Given the description of an element on the screen output the (x, y) to click on. 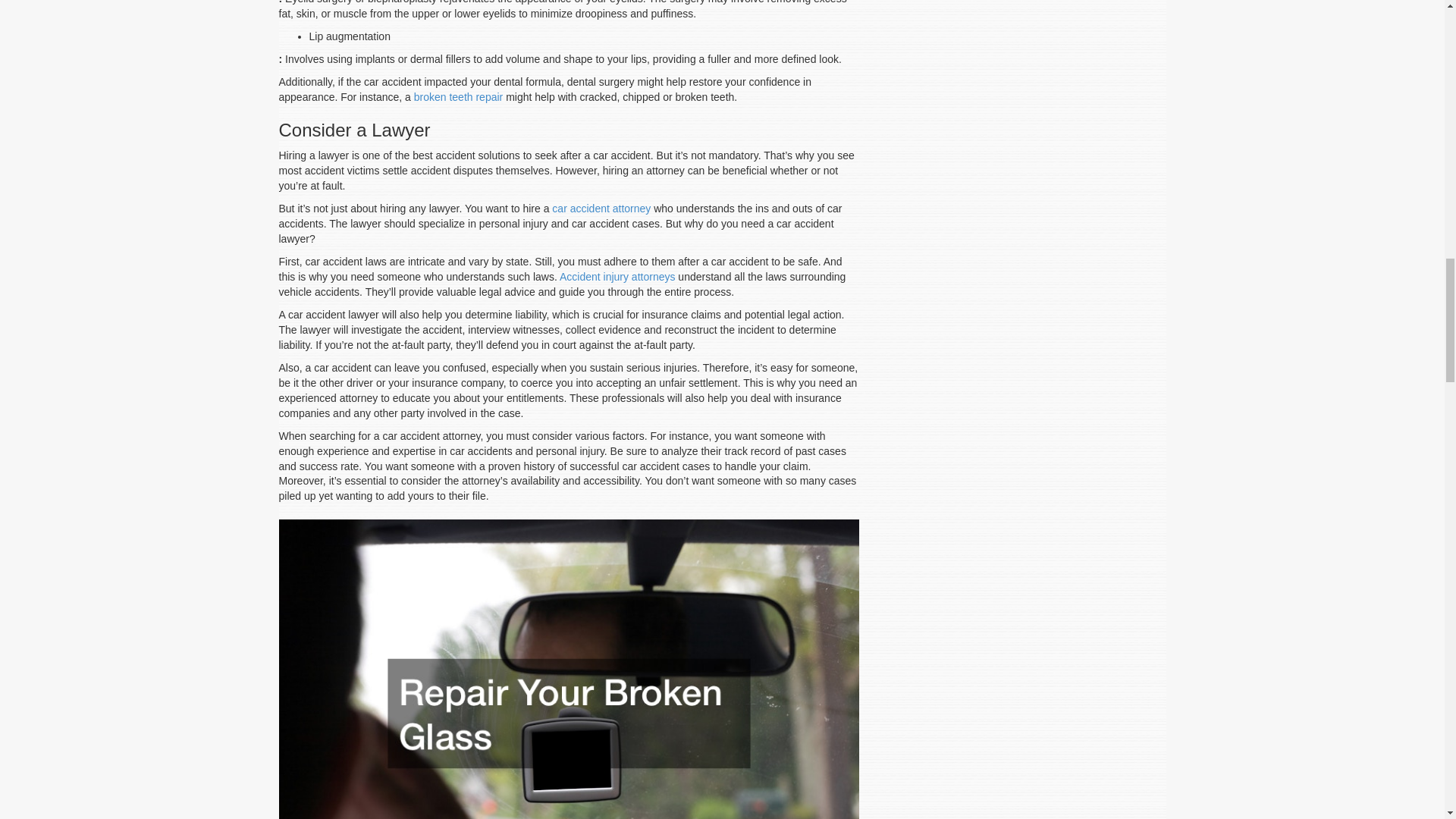
Accident injury attorneys (617, 276)
broken teeth repair (458, 96)
car accident attorney (600, 208)
